Given the description of an element on the screen output the (x, y) to click on. 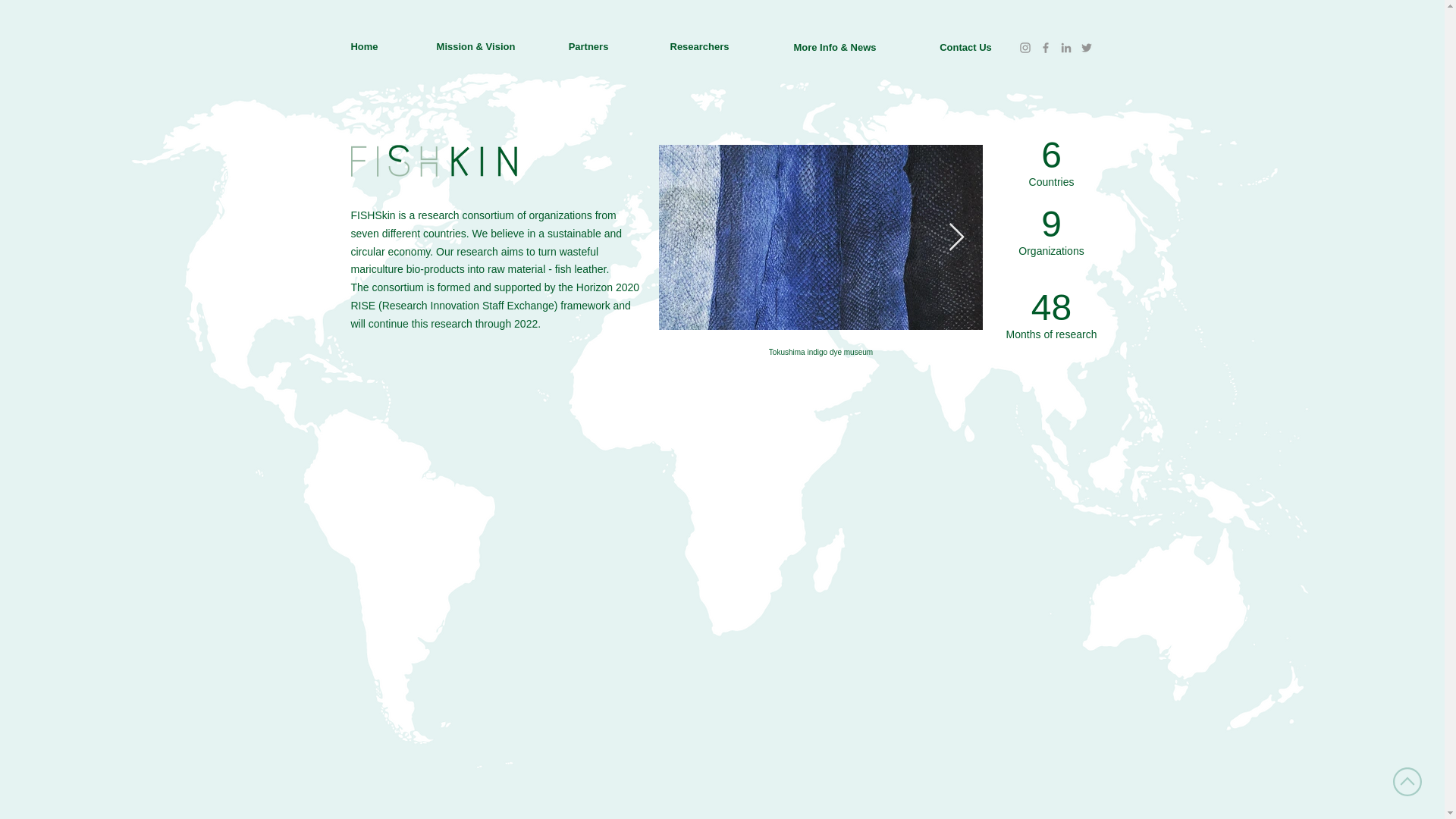
Home (363, 47)
Contact Us (819, 312)
Partners (965, 47)
Researchers (588, 47)
